Given the description of an element on the screen output the (x, y) to click on. 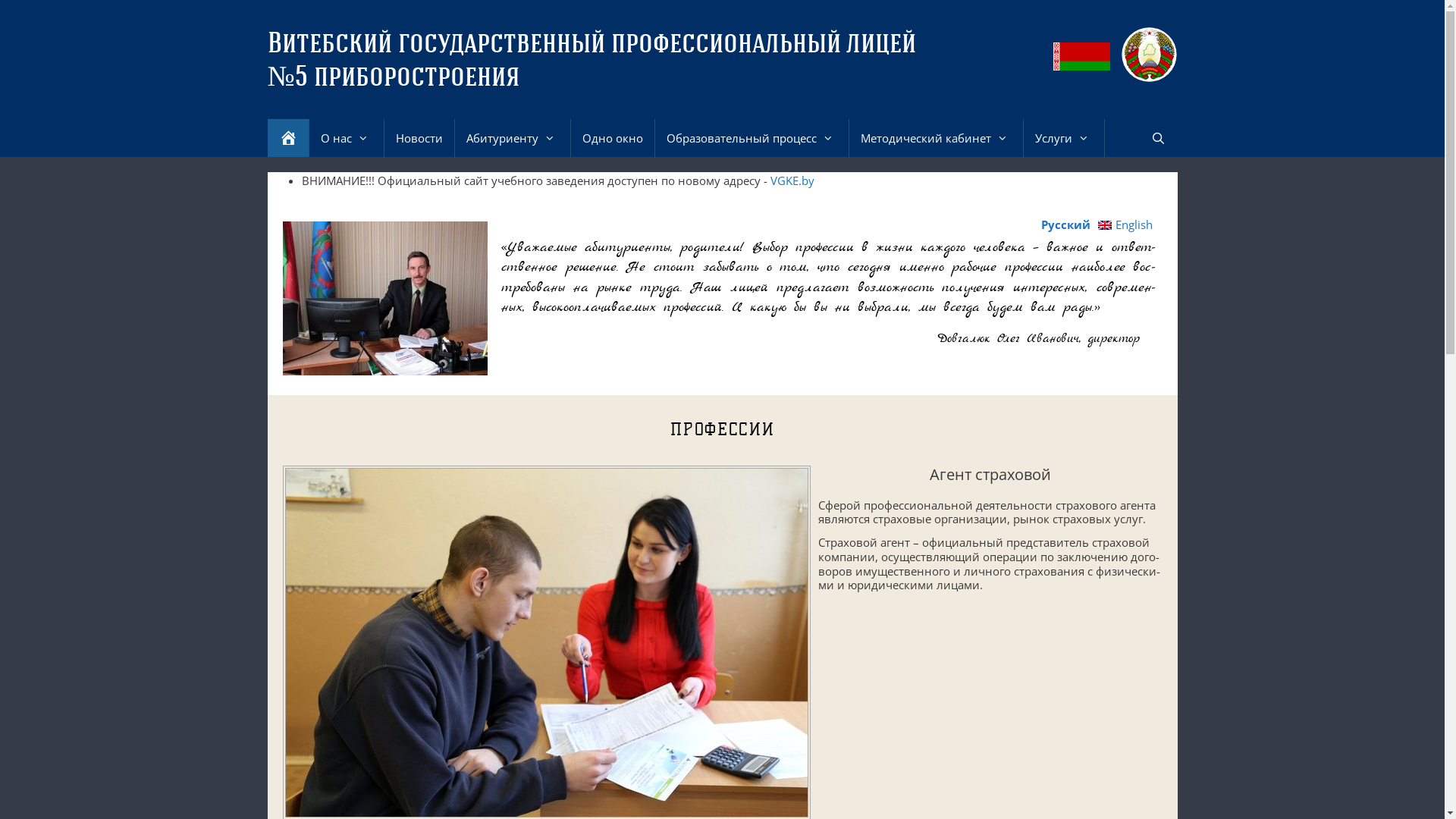
VGKE.by Element type: text (792, 180)
English Element type: text (1125, 224)
